Given the description of an element on the screen output the (x, y) to click on. 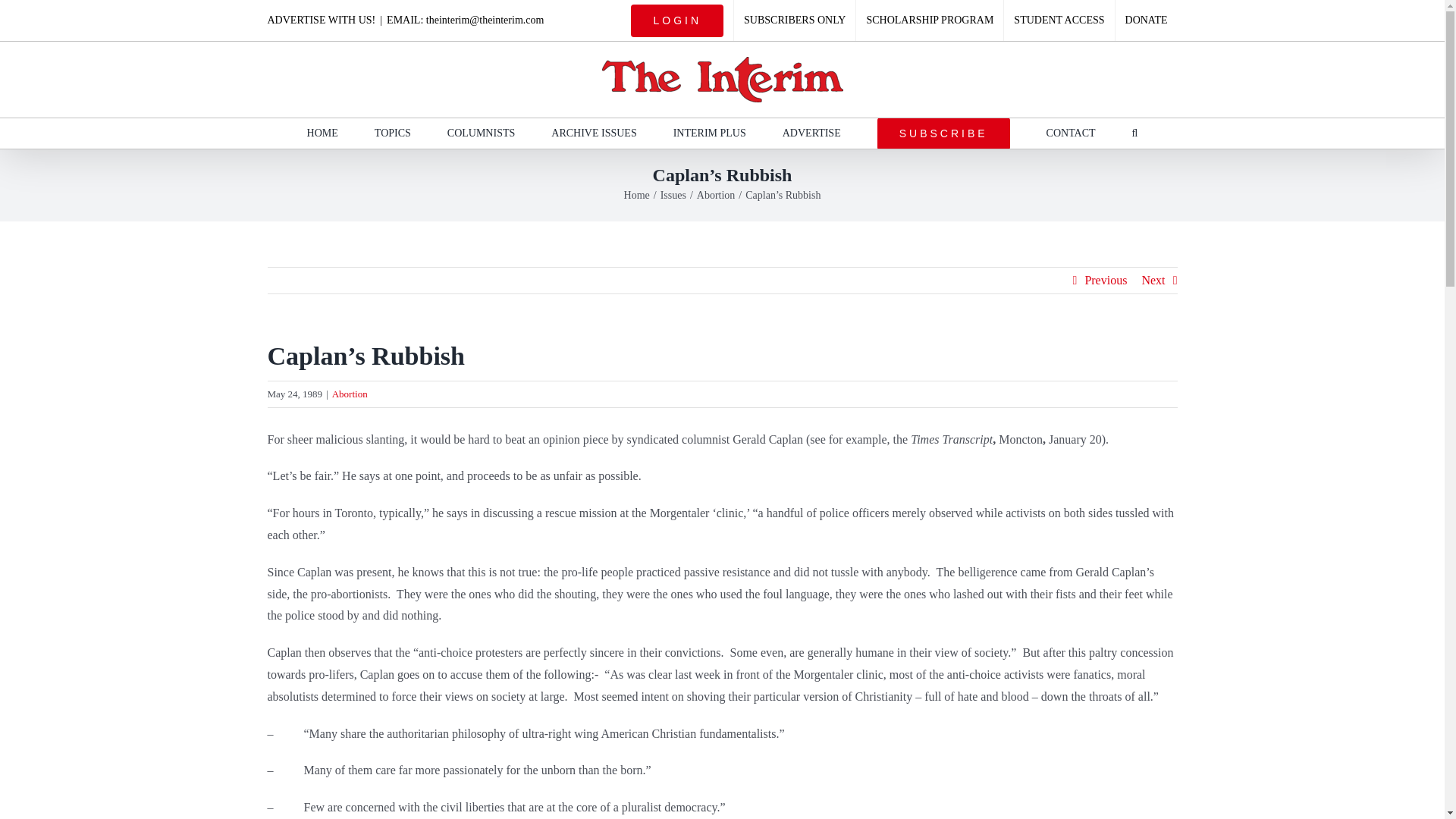
INTERIM PLUS (708, 132)
CONTACT (1071, 132)
HOME (322, 132)
SUBSCRIBERS ONLY (794, 20)
SUBSCRIBE (943, 132)
Abortion (349, 393)
COLUMNISTS (480, 132)
Issues (673, 194)
Next (1152, 280)
Home (636, 194)
